Given the description of an element on the screen output the (x, y) to click on. 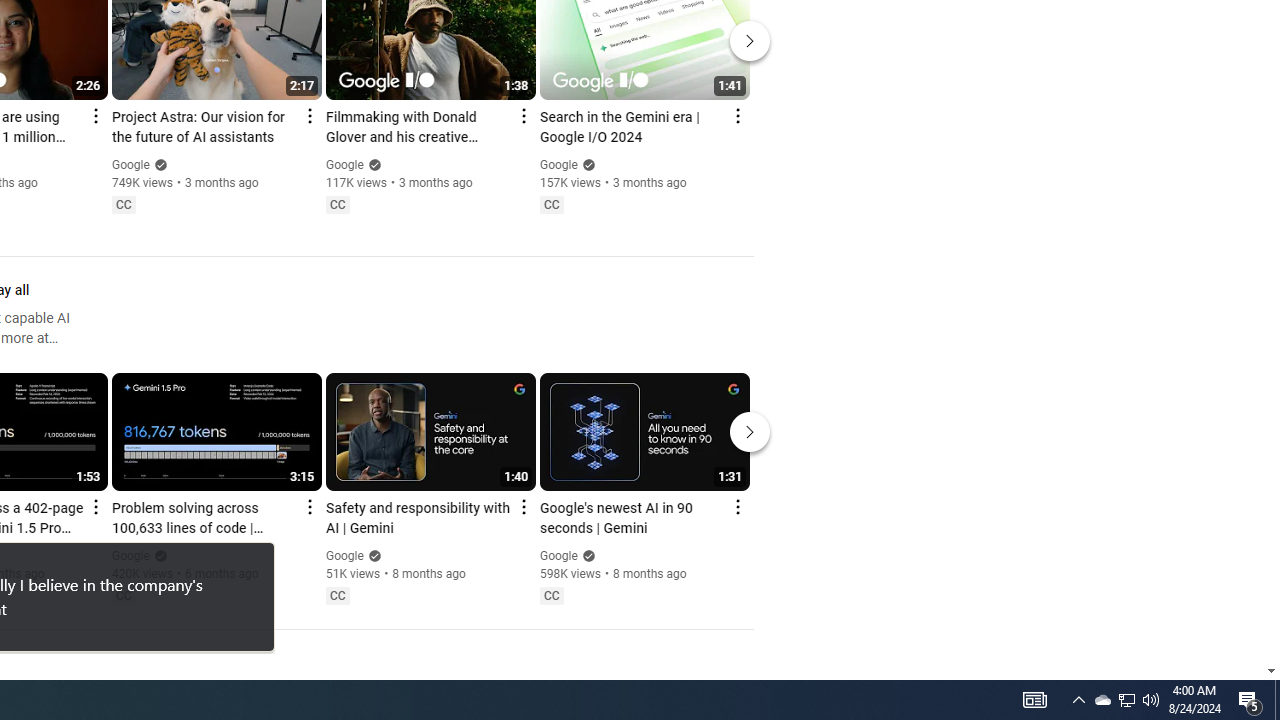
Closed captions (551, 595)
